Given the description of an element on the screen output the (x, y) to click on. 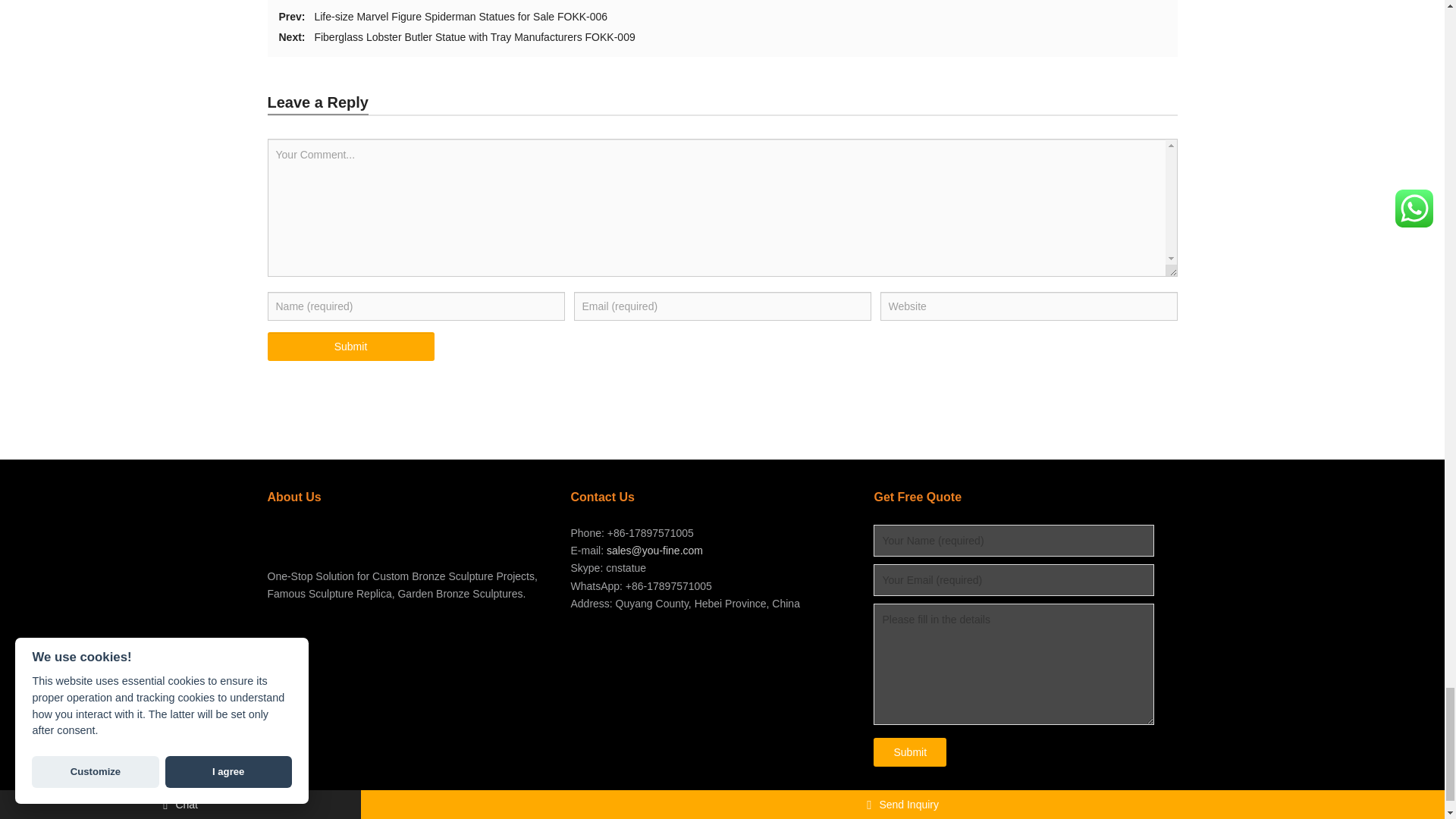
Submit (349, 346)
